Given the description of an element on the screen output the (x, y) to click on. 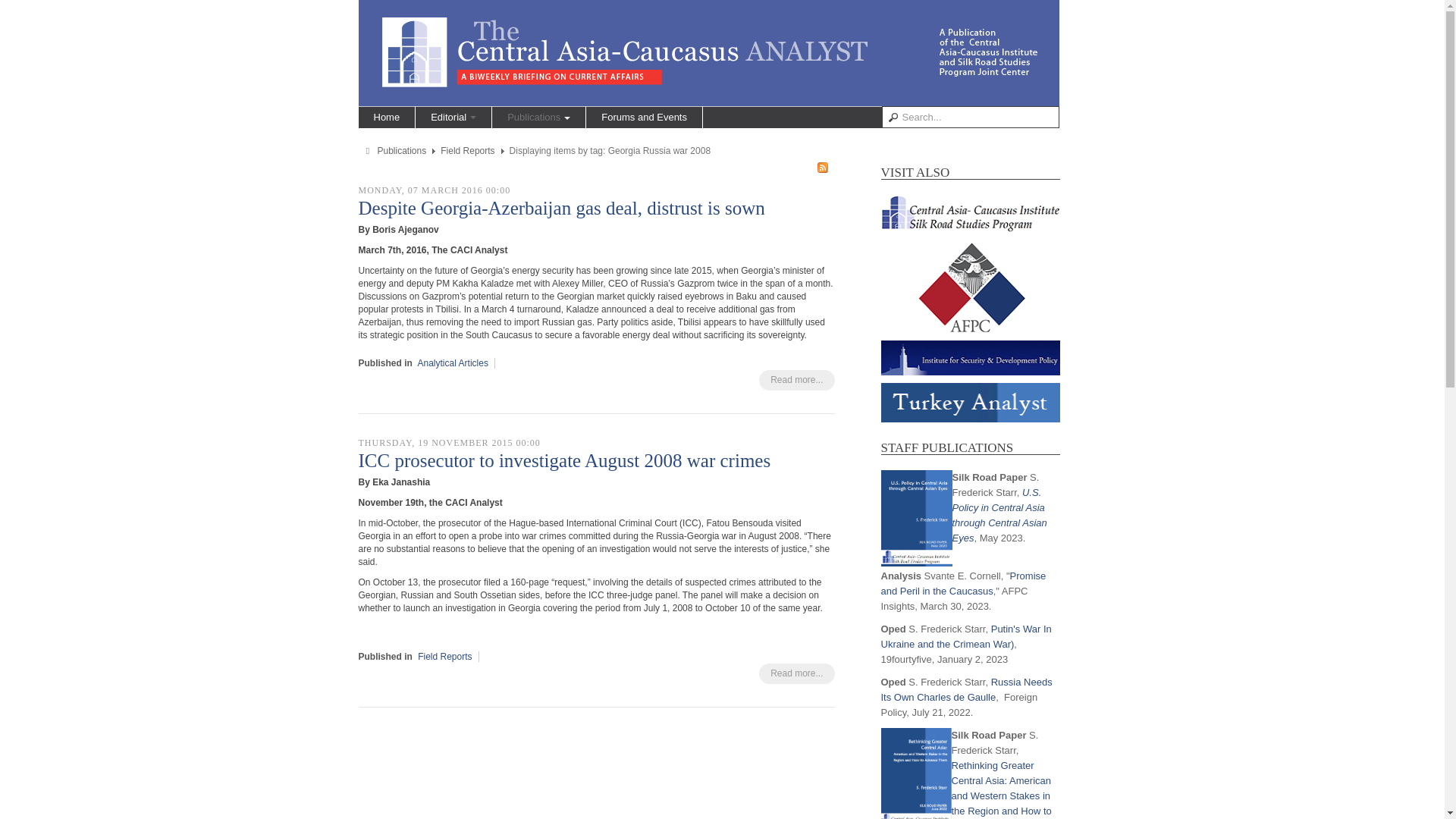
Forums and Events (643, 117)
Despite Georgia-Azerbaijan gas deal, distrust is sown (561, 208)
Field Reports (468, 150)
Publications (538, 117)
Field Reports (444, 656)
Read more... (796, 673)
Editorial (453, 117)
Publications (401, 150)
Analytical Articles (452, 362)
ICC prosecutor to investigate August 2008 war crimes (564, 460)
Read more... (796, 380)
Home (386, 117)
Promise and Peril in the Caucasus (963, 583)
U.S. Policy in Central Asia through Central Asian Eyes (999, 514)
Russia Needs Its Own Charles de Gaulle (966, 689)
